Given the description of an element on the screen output the (x, y) to click on. 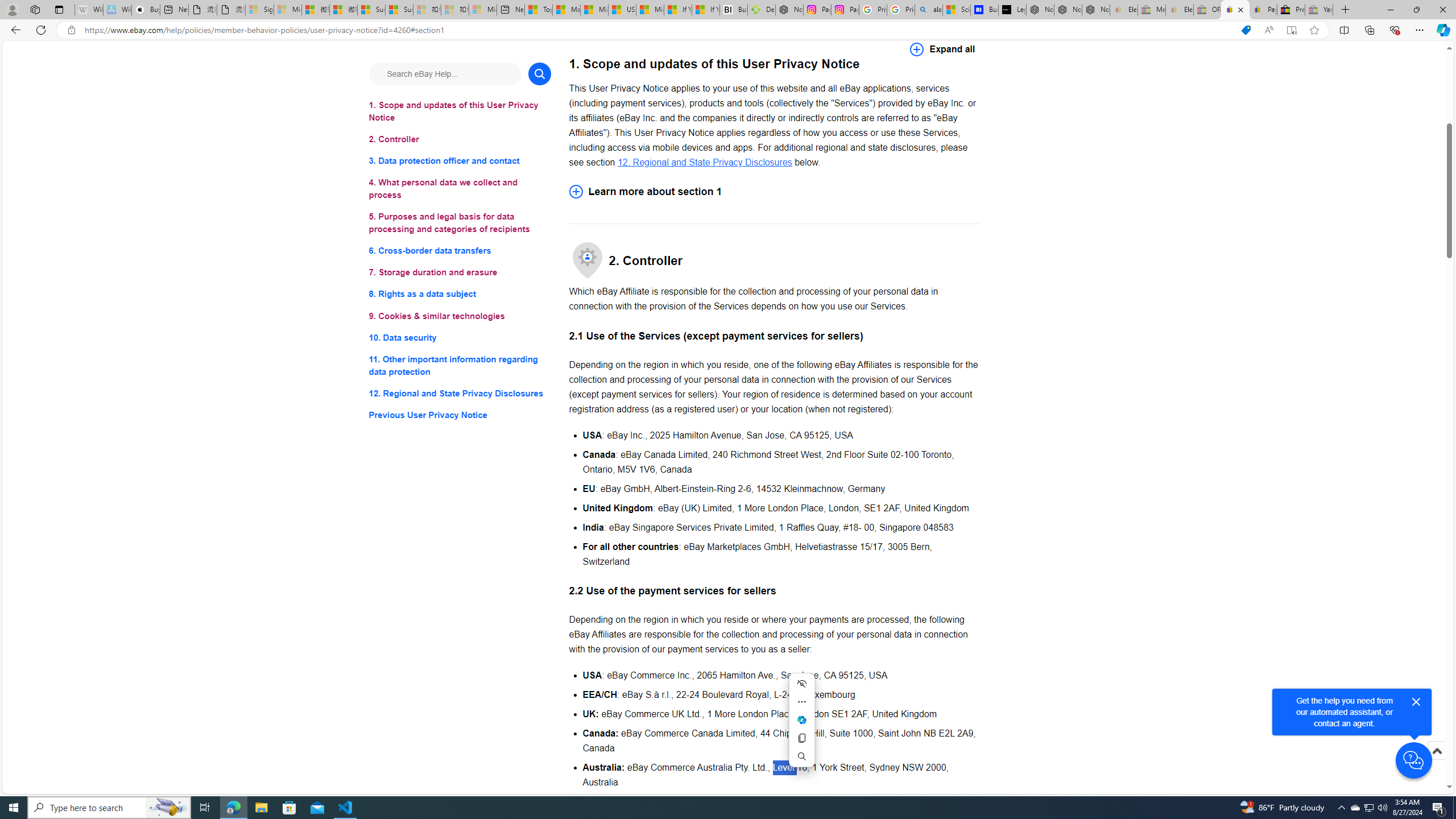
7. Storage duration and erasure (459, 272)
More actions (801, 701)
Scroll to top (1435, 762)
Expand all (942, 49)
4. What personal data we collect and process (459, 189)
Press Room - eBay Inc. (1291, 9)
6. Cross-border data transfers (459, 250)
12. Regional and State Privacy Disclosures (459, 392)
